Given the description of an element on the screen output the (x, y) to click on. 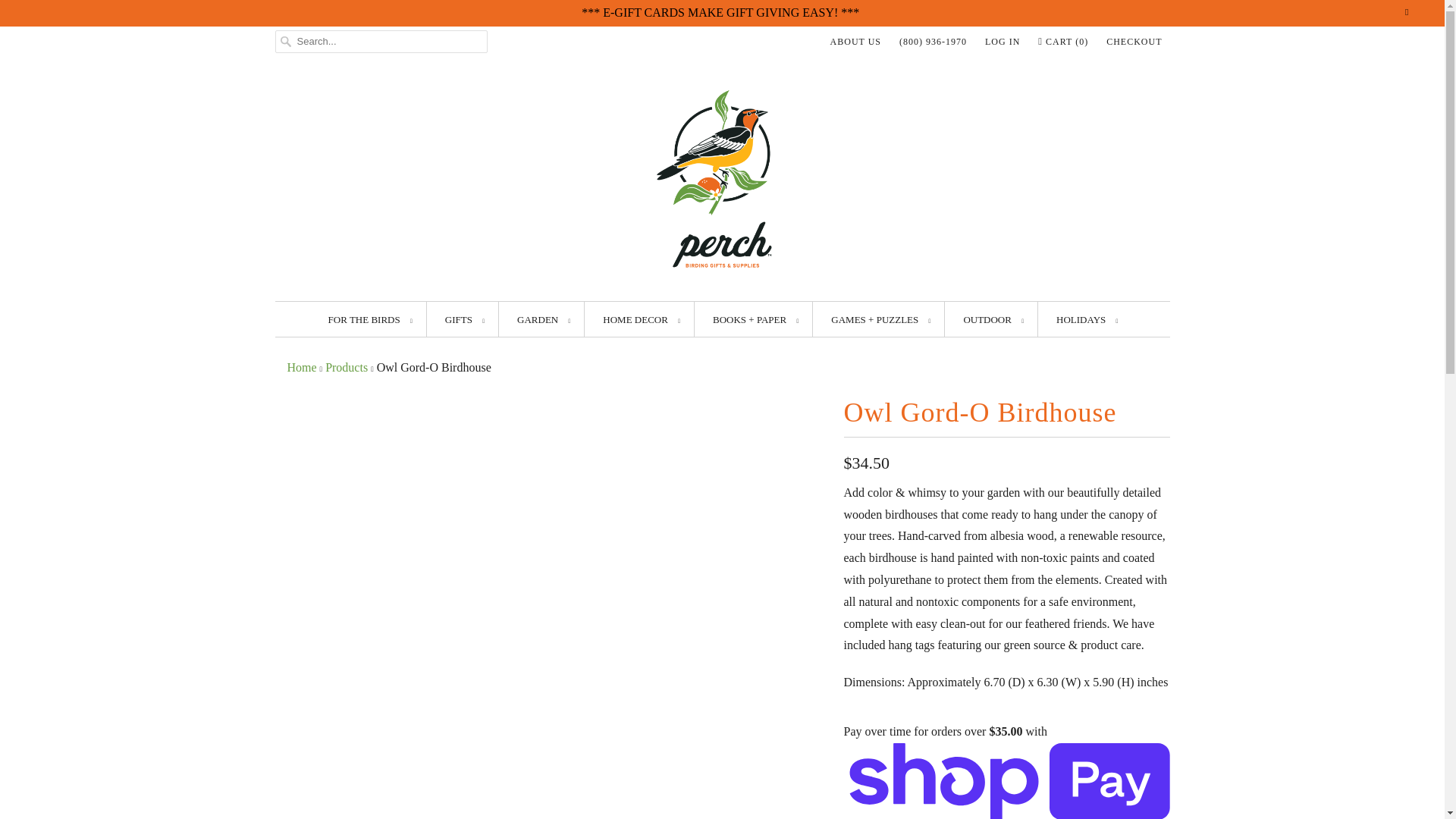
Owl Gord-O Birdhouse (551, 400)
ABOUT US (854, 41)
Products (346, 367)
LOG IN (1002, 41)
CHECKOUT (1133, 41)
